Given the description of an element on the screen output the (x, y) to click on. 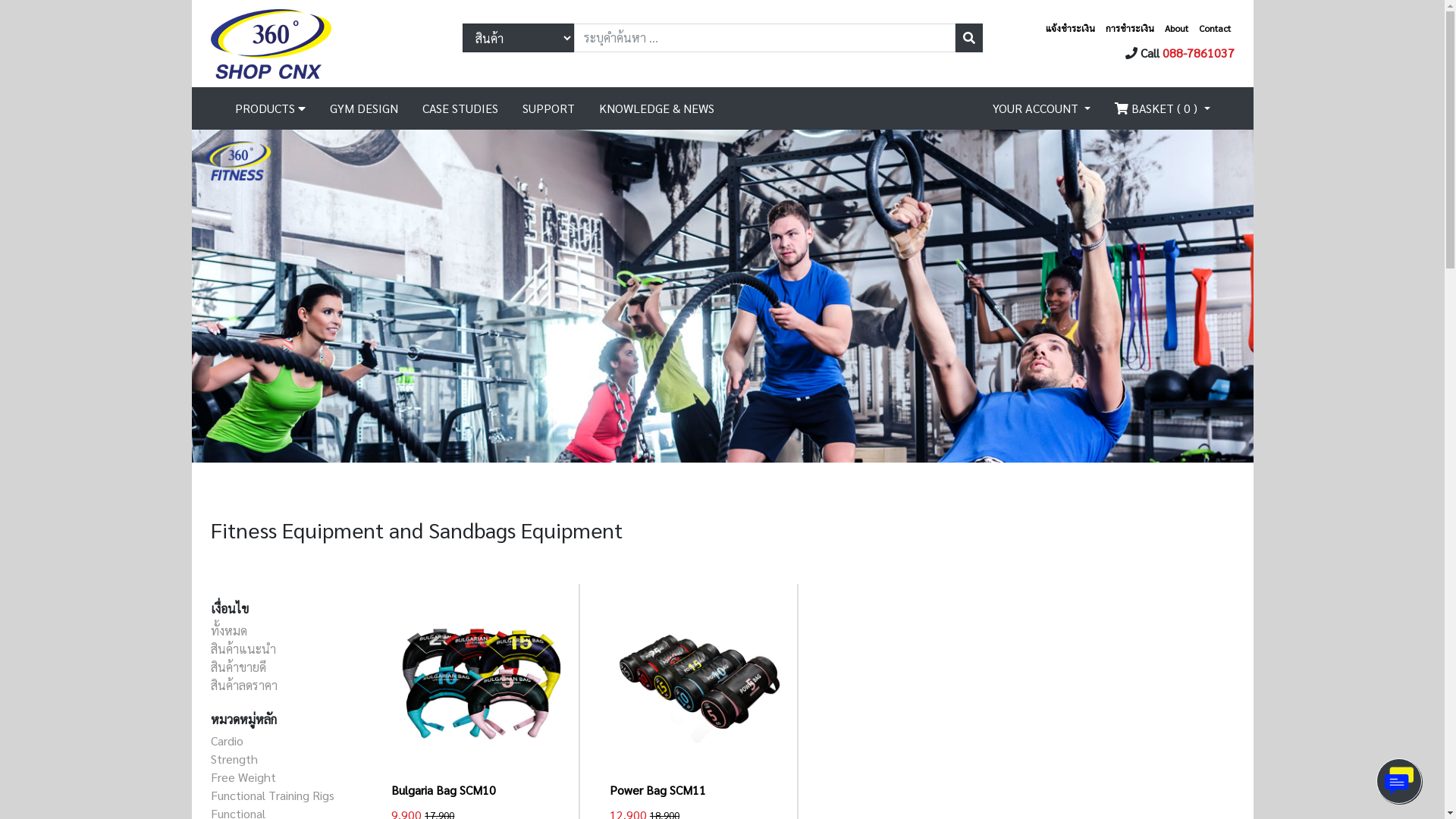
Contact Element type: text (1214, 27)
BASKET ( 0 ) Element type: text (1161, 108)
PRODUCTS Element type: text (269, 108)
SUPPORT Element type: text (547, 108)
Strength Element type: text (233, 758)
CASE STUDIES Element type: text (459, 108)
GYM DESIGN Element type: text (362, 108)
088-7861037 Element type: text (1197, 51)
YOUR ACCOUNT Element type: text (1041, 108)
Functional Training Rigs Element type: text (272, 795)
Cardio Element type: text (226, 740)
Free Weight Element type: text (243, 776)
About Element type: text (1176, 27)
KNOWLEDGE & NEWS Element type: text (656, 108)
